Given the description of an element on the screen output the (x, y) to click on. 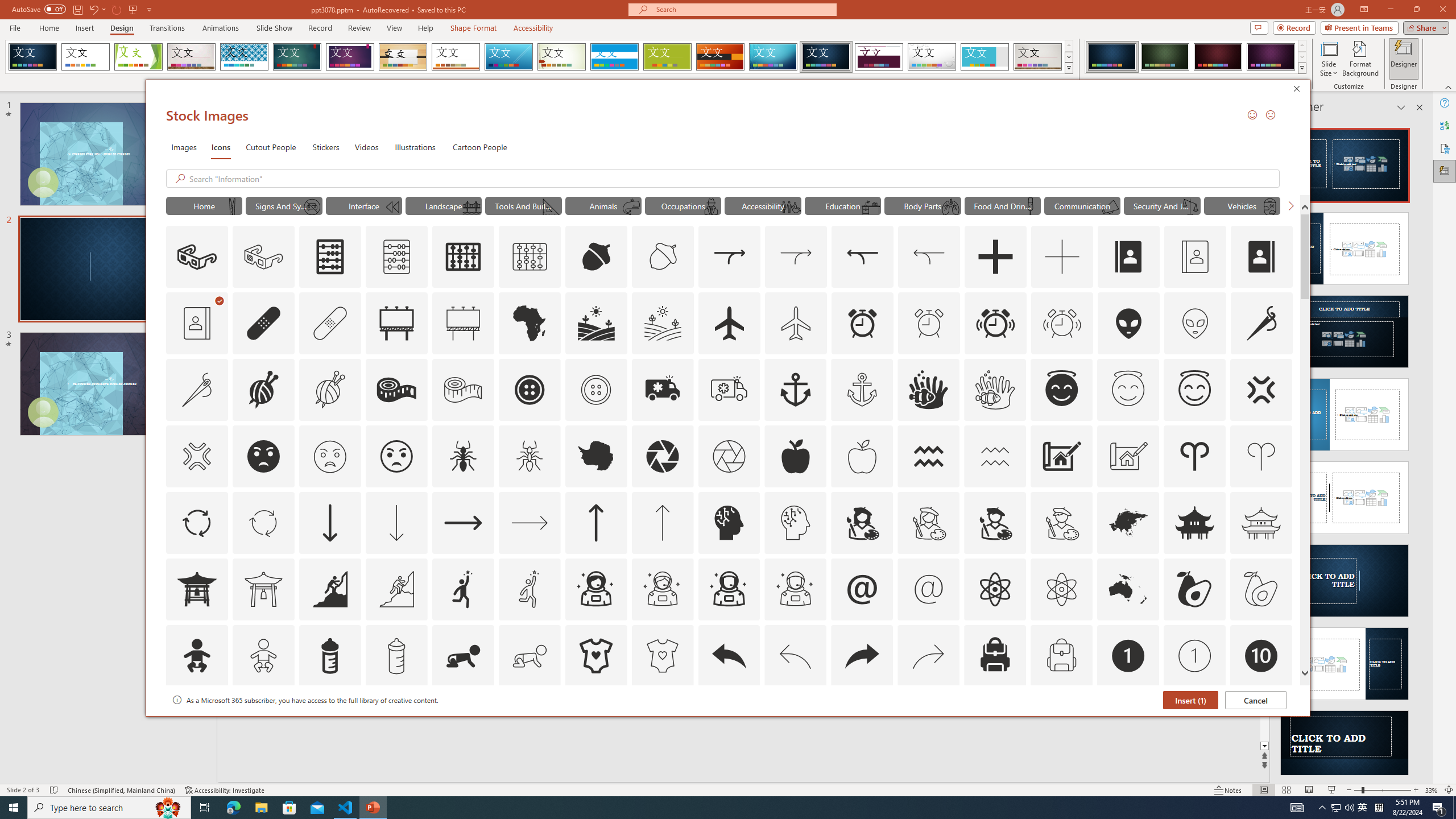
AutomationID: Icons_Abacus1 (462, 256)
Dividend (879, 56)
AutomationID: Icons_Add_M (1062, 256)
AutomationID: Icons_Airplane_M (796, 323)
"Landscape" Icons. (443, 205)
AutomationID: Icons_Agriculture (596, 323)
Icons (220, 146)
Ion Boardroom (350, 56)
AutomationID: Icons_Avocado_M (1260, 588)
